Given the description of an element on the screen output the (x, y) to click on. 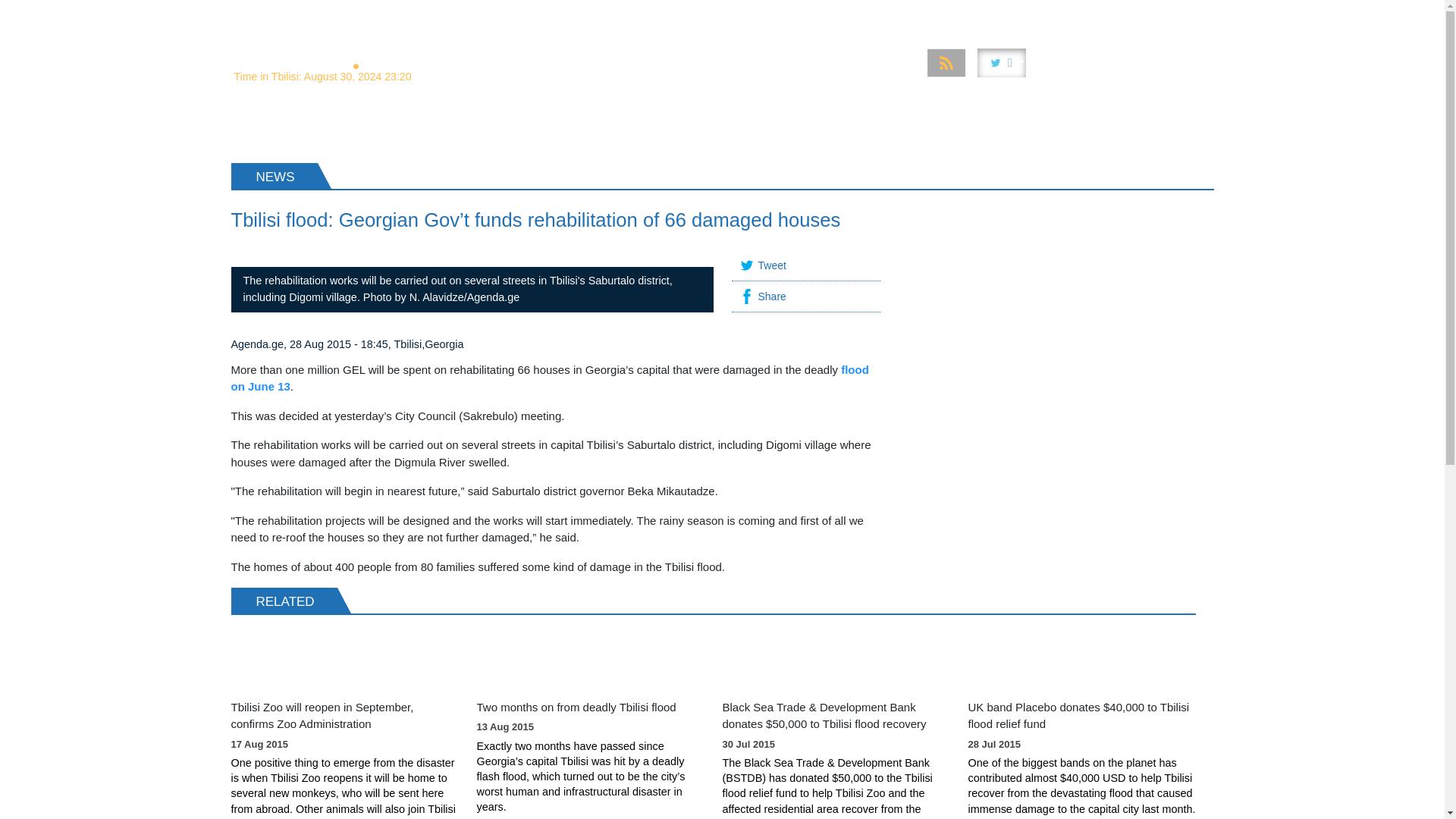
Home (512, 14)
In Pictures (911, 14)
Life (1050, 14)
Infographic (990, 14)
Government (751, 14)
Multimedia (833, 14)
Pressscanner (1116, 14)
Analysis (571, 14)
NEWS (262, 126)
Blogs (1187, 14)
